Given the description of an element on the screen output the (x, y) to click on. 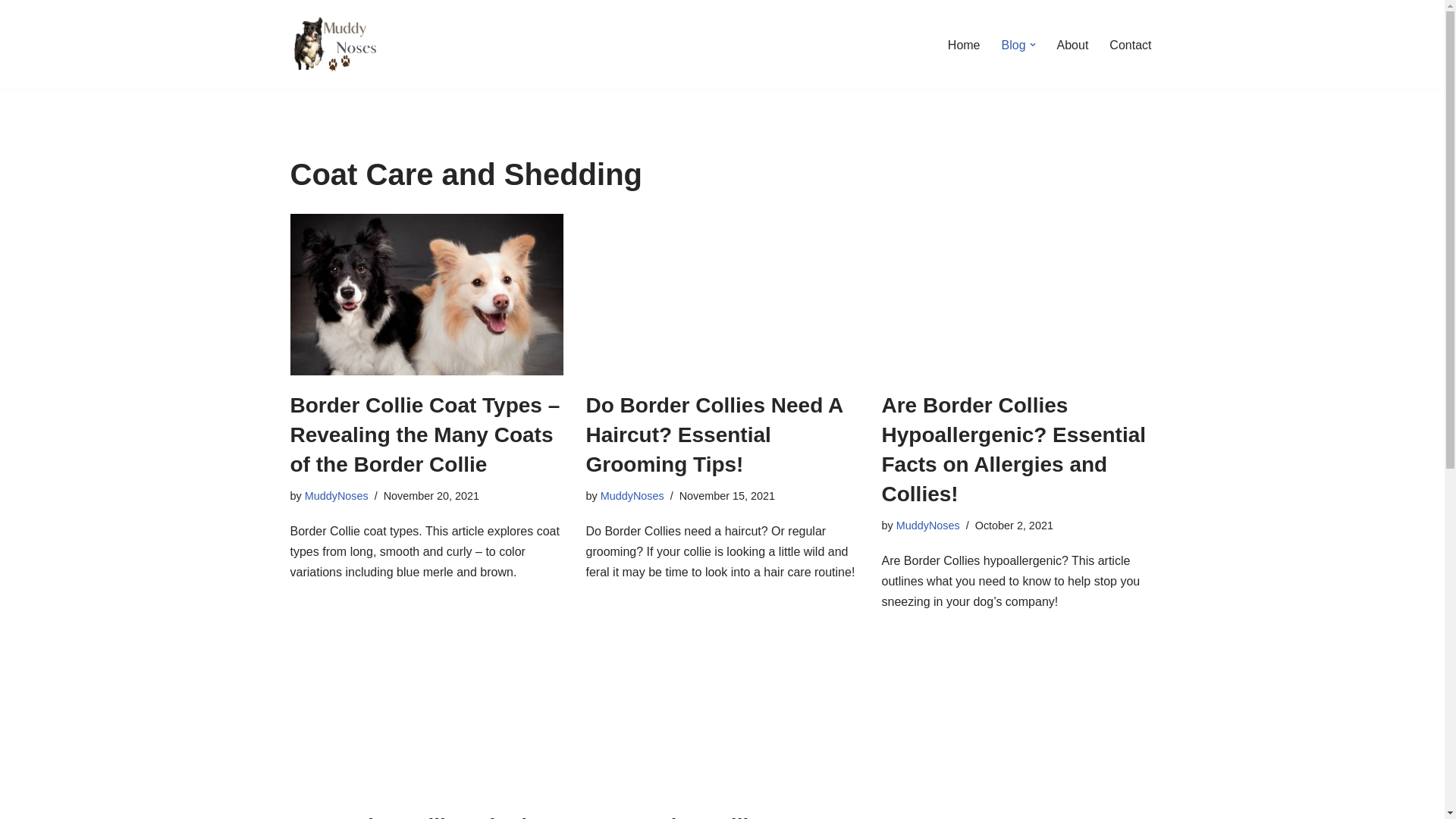
Posts by MuddyNoses (631, 495)
Do Border Collies Need A Haircut? Essential Grooming Tips! (722, 293)
Do Border Collies Shed? Essential Things To Know! (425, 714)
About (1073, 45)
Posts by MuddyNoses (927, 525)
Posts by MuddyNoses (336, 495)
Skip to content (11, 31)
Contact (1130, 45)
Blog (1013, 45)
